Given the description of an element on the screen output the (x, y) to click on. 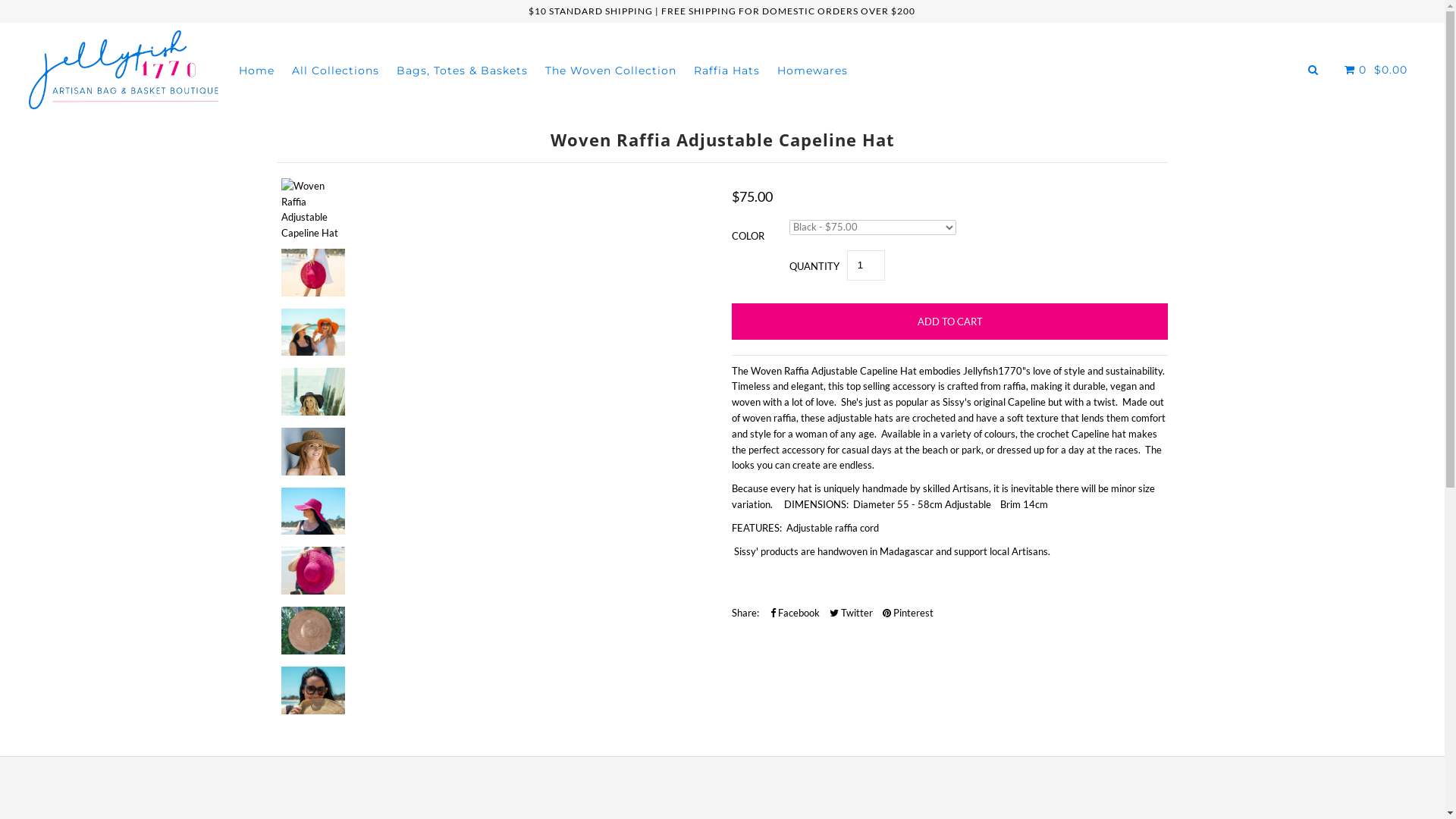
Homewares Element type: text (812, 70)
Pinterest Element type: text (907, 613)
  0  $0.00 Element type: text (1374, 69)
The Woven Collection Element type: text (610, 70)
Raffia Hats Element type: text (726, 70)
Facebook Element type: text (794, 613)
All Collections Element type: text (335, 70)
Twitter Element type: text (850, 613)
Home Element type: text (256, 70)
Bags, Totes & Baskets Element type: text (462, 70)
Add to Cart Element type: text (949, 321)
